Given the description of an element on the screen output the (x, y) to click on. 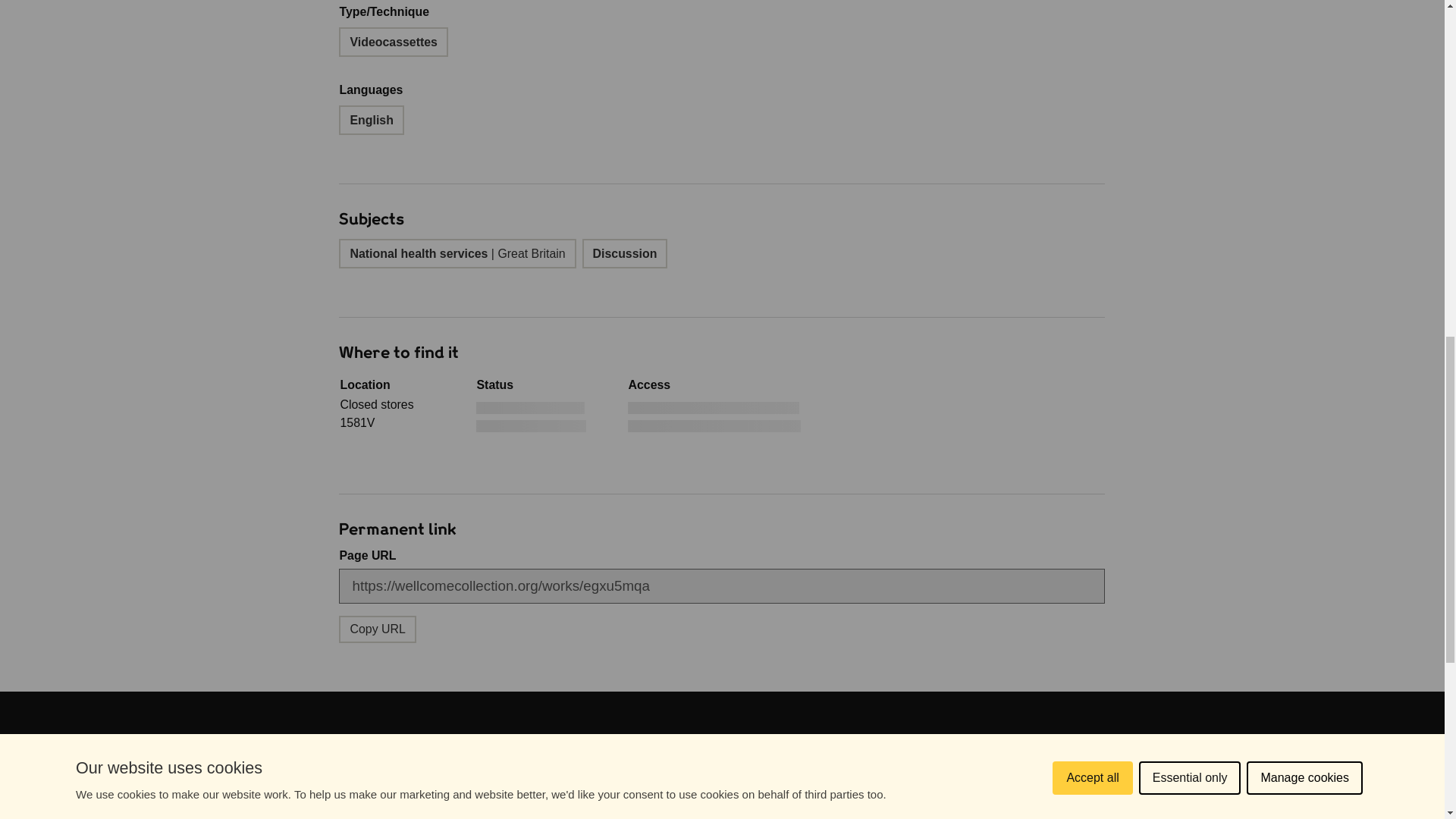
Discussion (625, 253)
Wellcome Collection (309, 756)
Videocassettes (392, 41)
National health servicesGreat Britain (457, 253)
Essential only (308, 815)
Copy URL (1189, 12)
English (376, 628)
Manage cookies (371, 120)
Accept all (1304, 2)
